Given the description of an element on the screen output the (x, y) to click on. 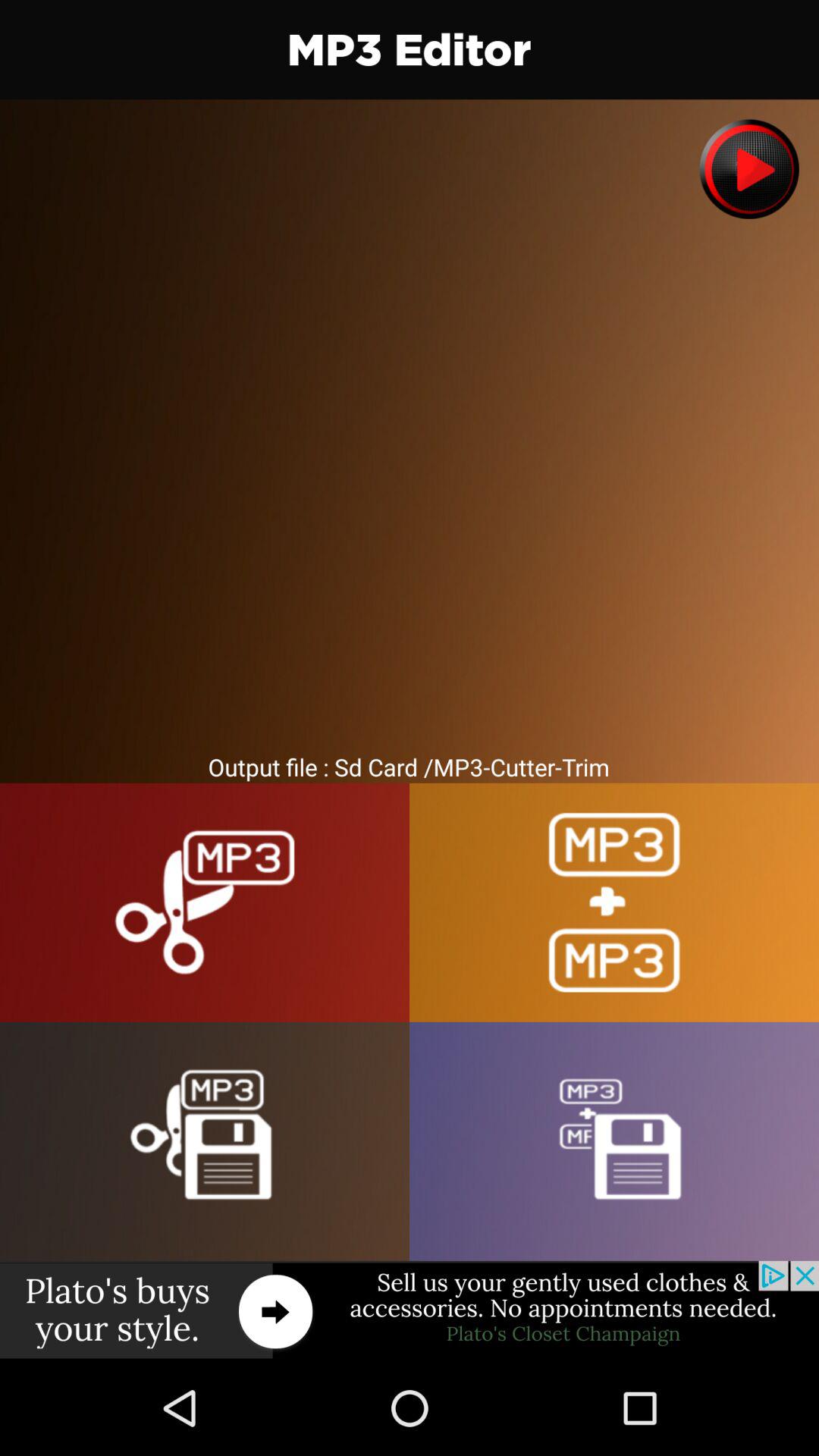
toggle to cut the song (204, 902)
